Given the description of an element on the screen output the (x, y) to click on. 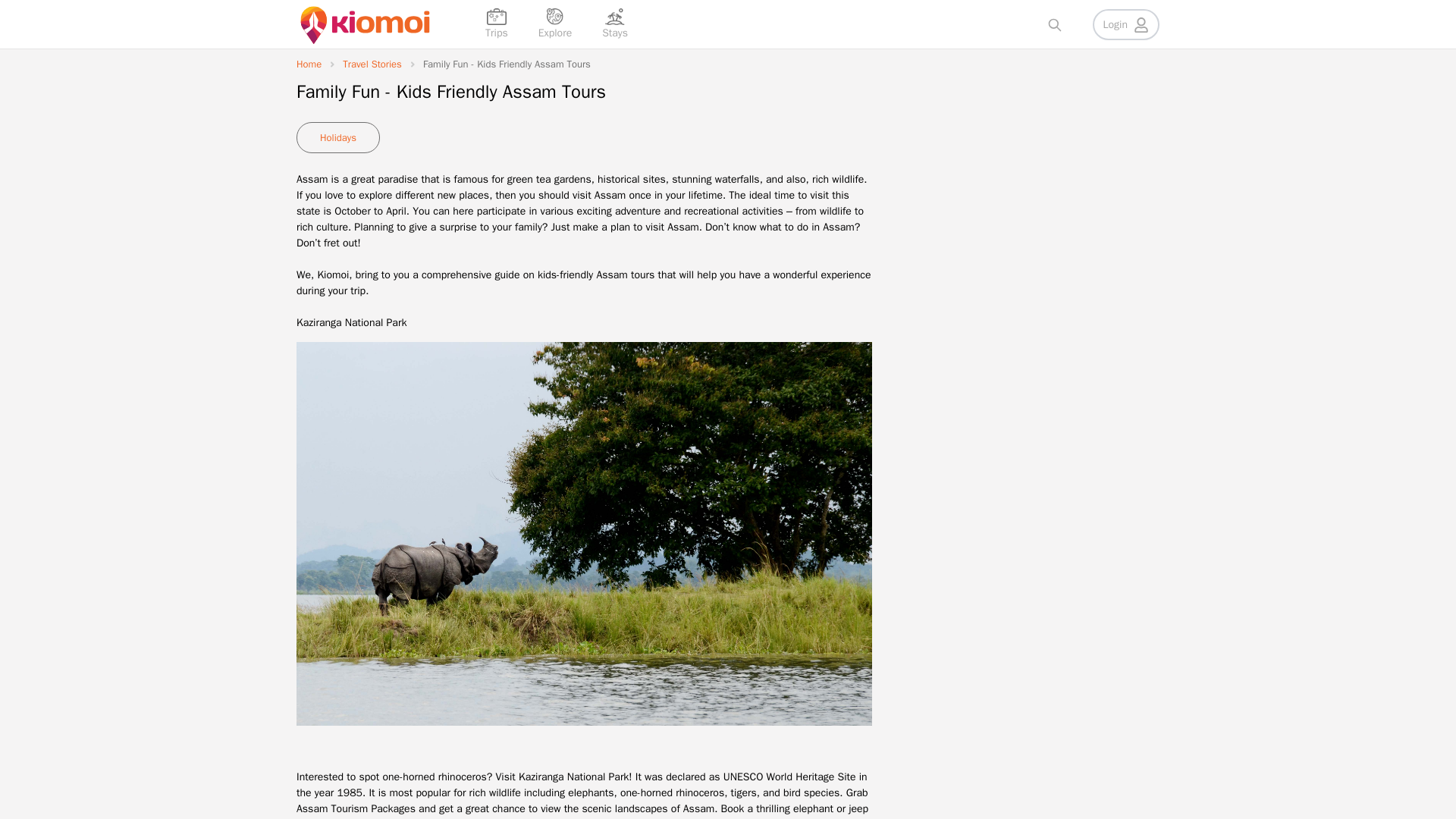
Travel Stories (371, 64)
Assam tours (624, 274)
Kiomoi (333, 274)
Home (309, 64)
Explore (555, 24)
